Given the description of an element on the screen output the (x, y) to click on. 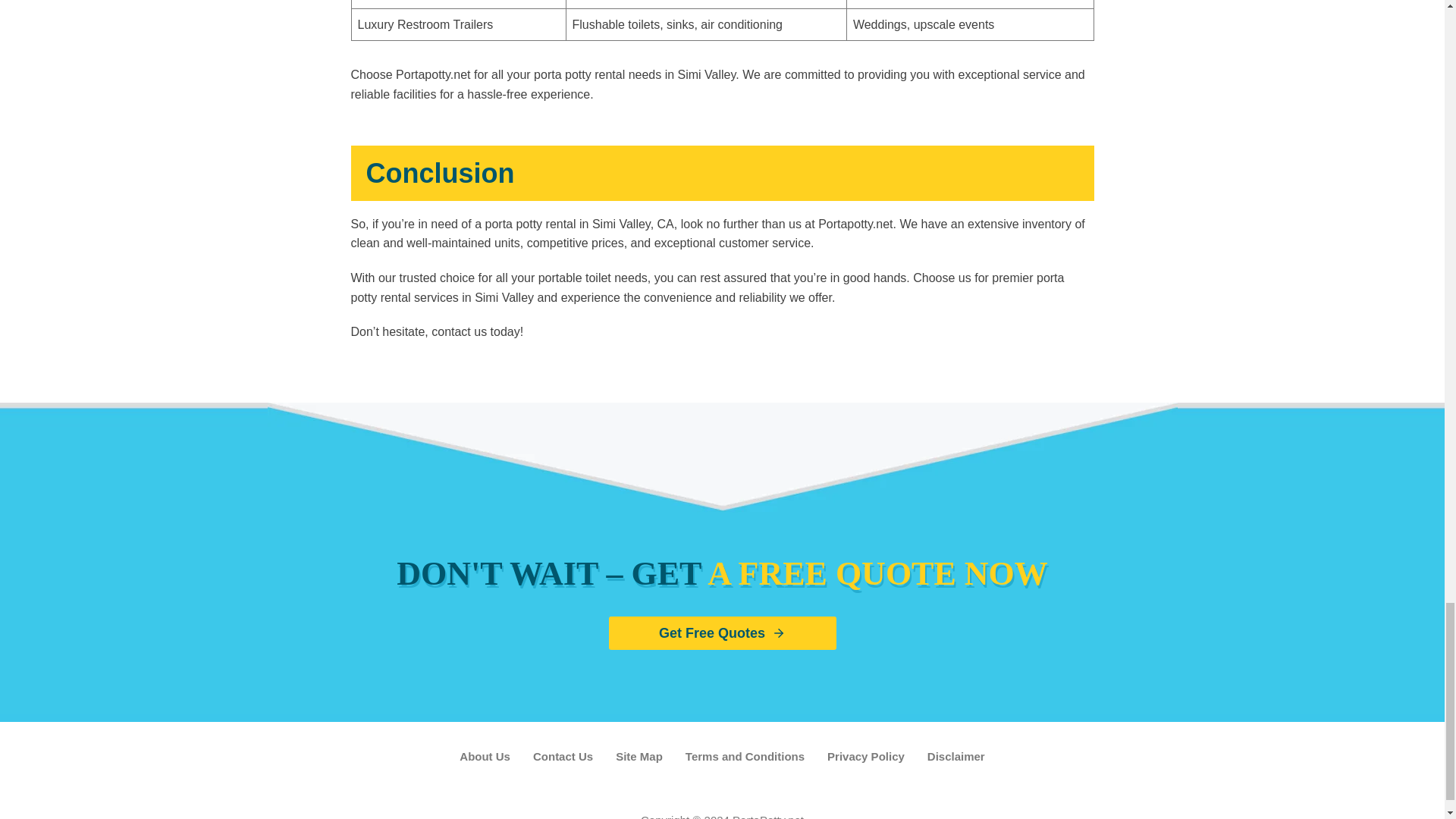
Disclaimer (955, 756)
Site Map (639, 756)
Terms and Conditions (744, 756)
About Us (484, 756)
Get Free Quotes (721, 632)
Contact Us (562, 756)
Privacy Policy (865, 756)
